Given the description of an element on the screen output the (x, y) to click on. 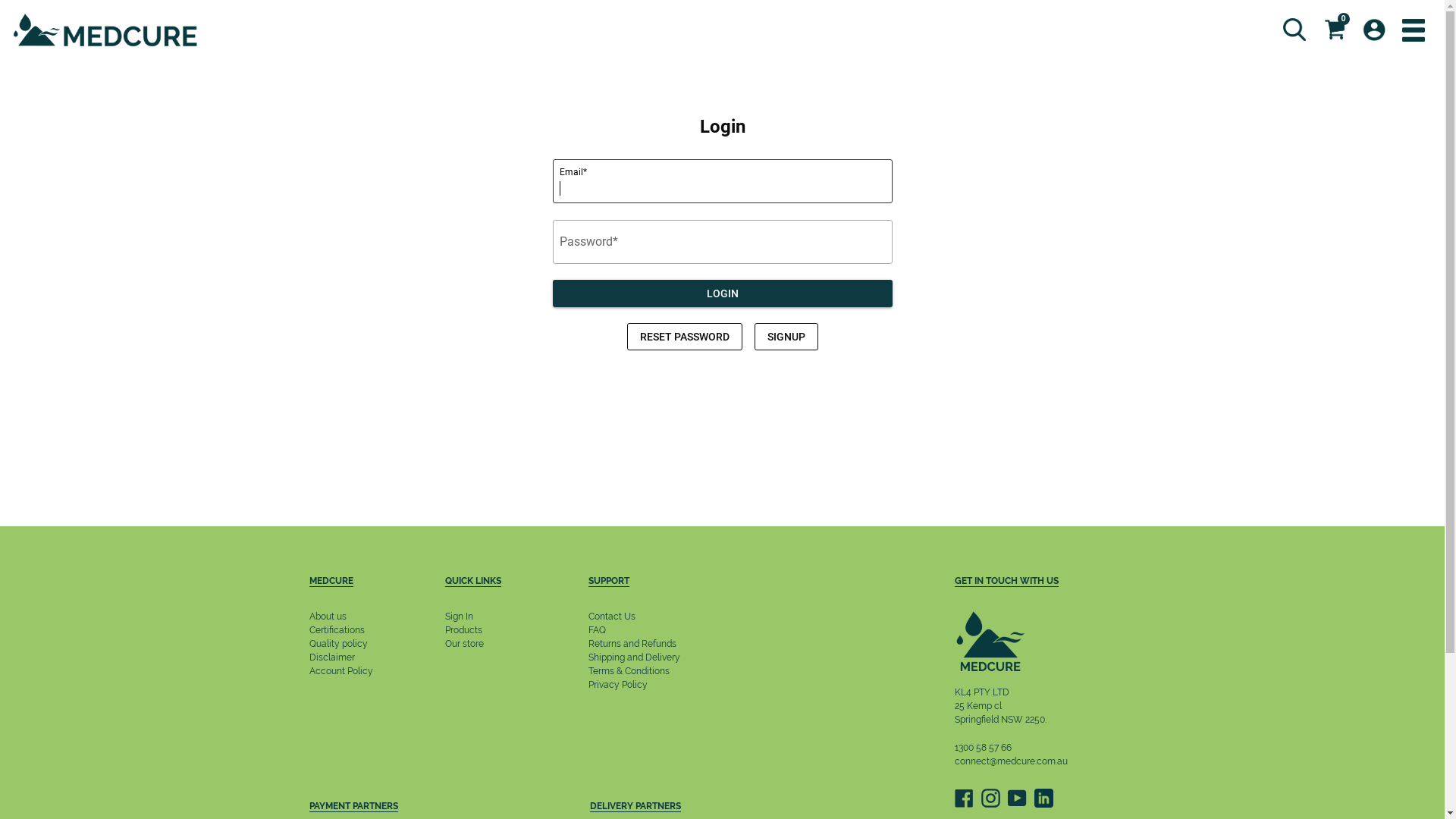
connect@medcure.com.au Element type: text (1009, 761)
QUICK LINKS Element type: text (475, 582)
Shipping and Delivery Element type: text (634, 657)
Quality policy Element type: text (338, 643)
Privacy Policy Element type: text (617, 684)
Instagram Element type: text (990, 797)
Account Policy Element type: text (341, 670)
Facebook Element type: text (962, 797)
About us Element type: text (327, 616)
Sign In Element type: text (459, 616)
Products Element type: text (463, 629)
Log in Element type: text (1373, 29)
SUPPORT Element type: text (645, 582)
Our store Element type: text (464, 643)
MEDCURE Element type: text (349, 582)
Cart
0 Element type: text (1334, 29)
Certifications Element type: text (336, 629)
FAQ Element type: text (596, 629)
YouTube Element type: text (1016, 797)
Contact Us Element type: text (611, 616)
Terms & Conditions Element type: text (628, 670)
Returns and Refunds Element type: text (632, 643)
Disclaimer Element type: text (331, 657)
